Given the description of an element on the screen output the (x, y) to click on. 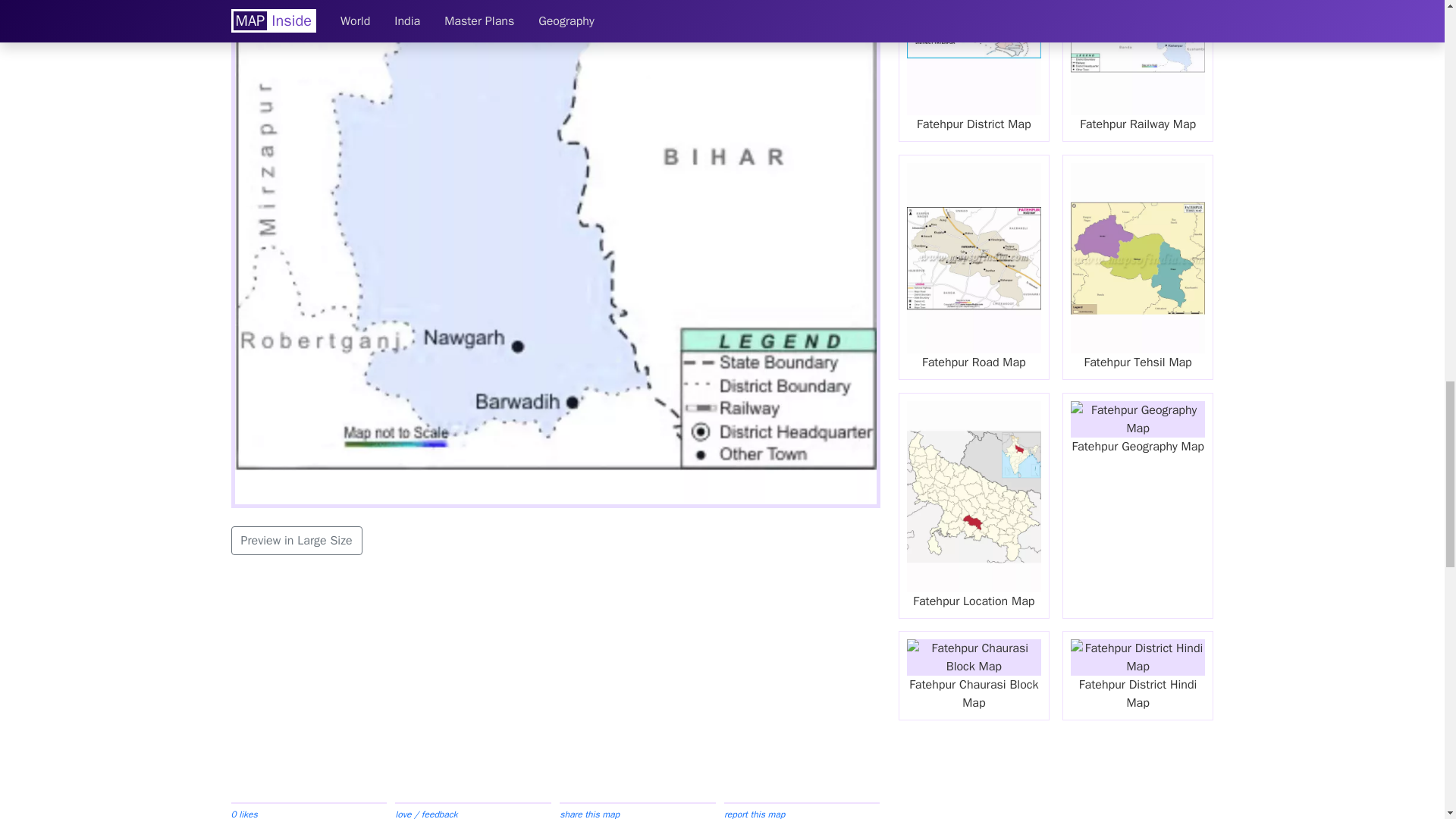
Fatehpur Railway Map (1138, 71)
Fatehpur District Hindi Map (1138, 675)
Fatehpur Chaurasi Block Map (973, 675)
Fatehpur District Map (973, 71)
